Given the description of an element on the screen output the (x, y) to click on. 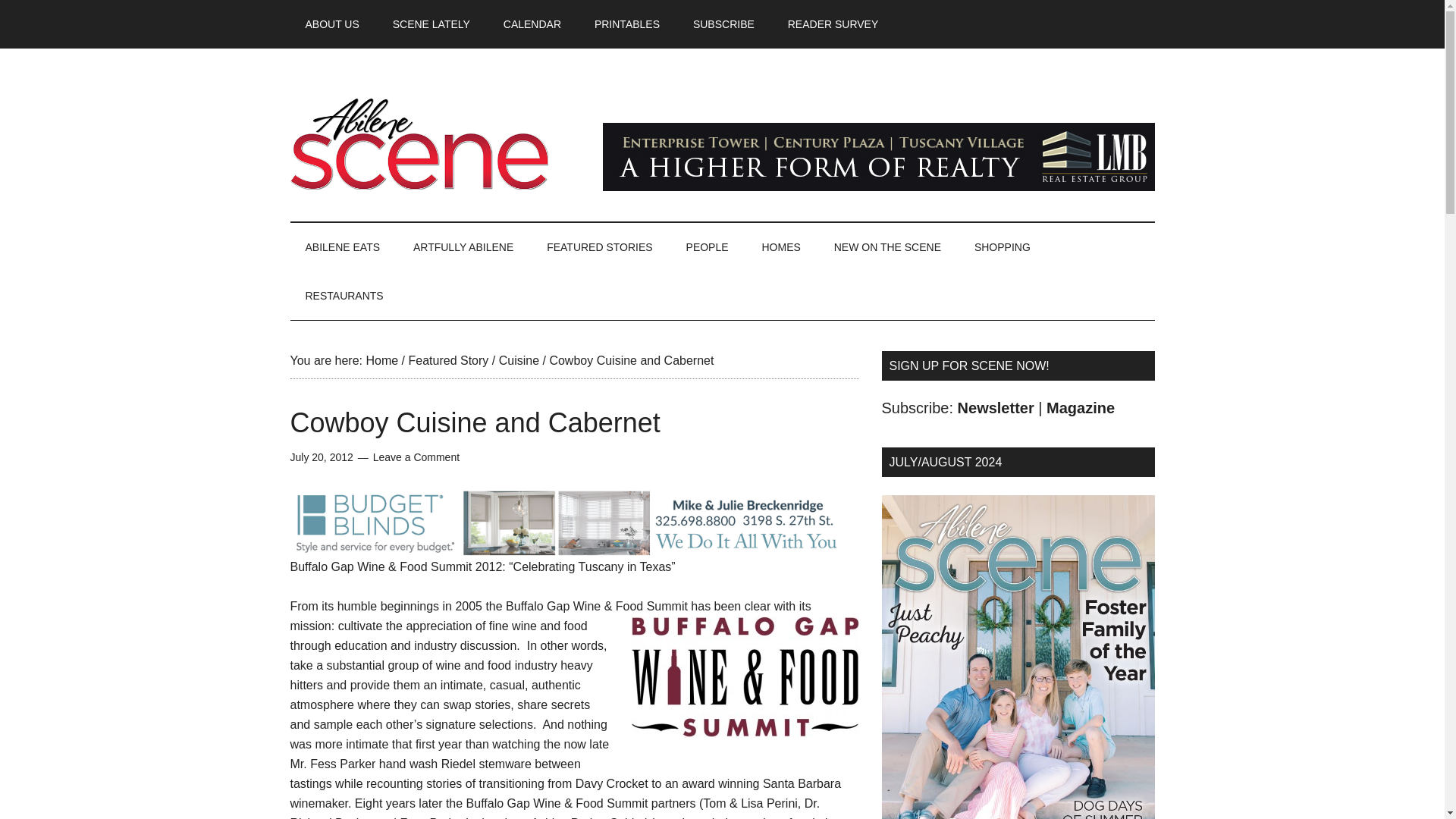
PRINTABLES (627, 24)
CALENDAR (531, 24)
ARTFULLY ABILENE (462, 246)
ABOUT US (331, 24)
READER SURVEY (833, 24)
ABILENE EATS (341, 246)
SUBSCRIBE (724, 24)
Abilene Scene (433, 143)
FEATURED STORIES (599, 246)
SCENE LATELY (430, 24)
